Given the description of an element on the screen output the (x, y) to click on. 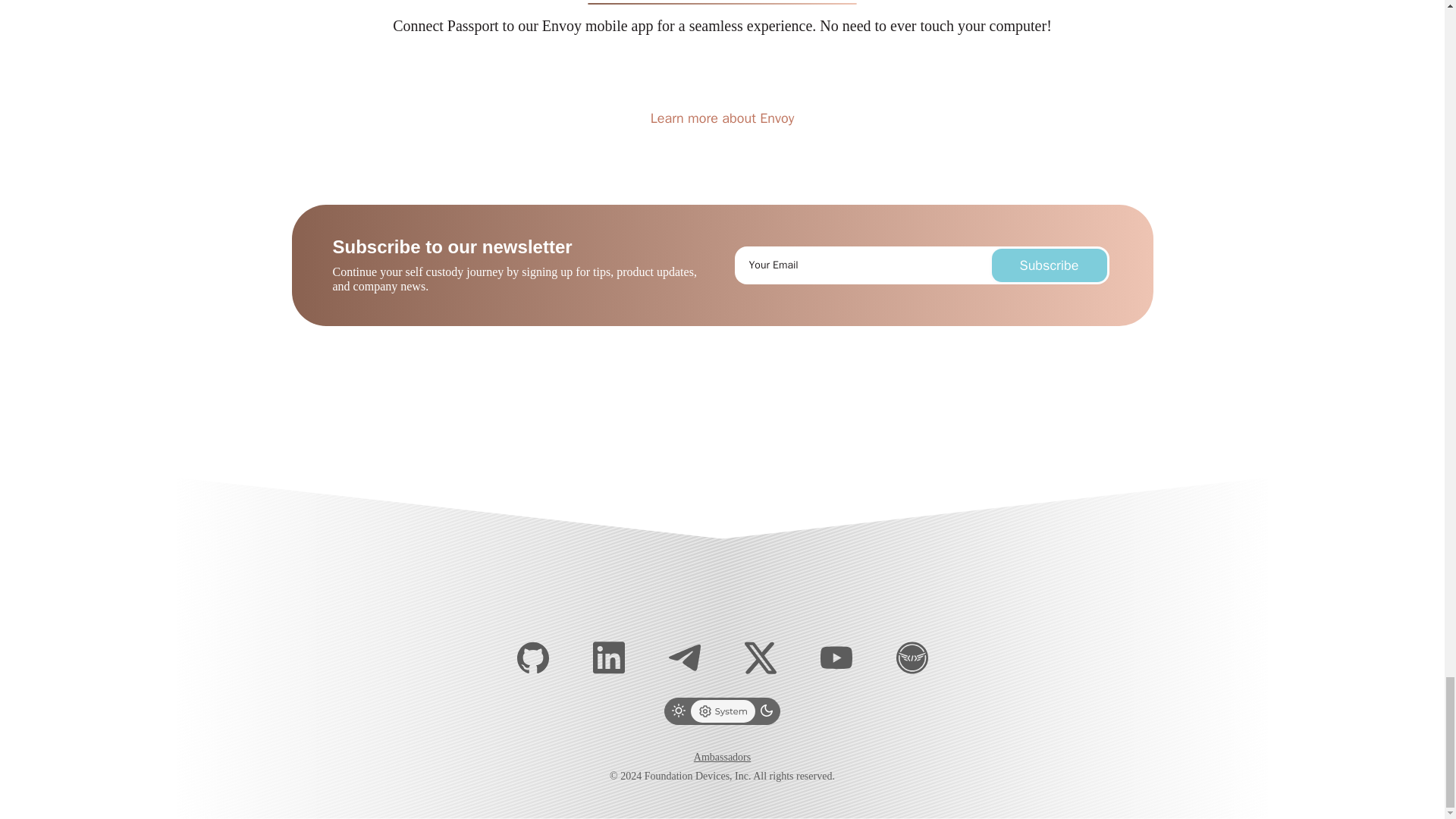
Subscribe (1048, 264)
light (678, 711)
Subscribe (1048, 264)
Ambassadors (722, 766)
Learn more about Envoy (721, 117)
dark (766, 711)
system (722, 711)
